Given the description of an element on the screen output the (x, y) to click on. 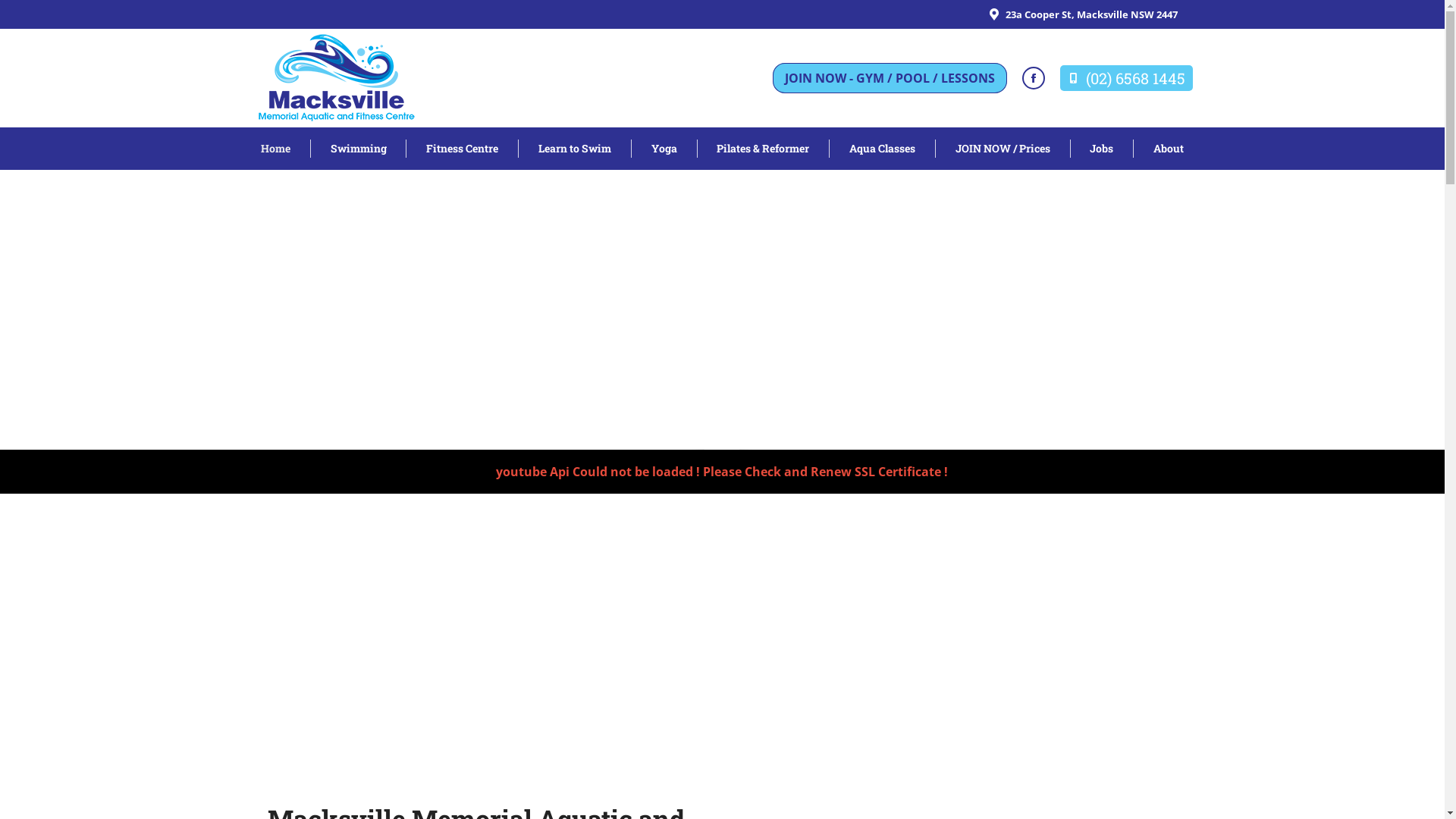
Fitness Centre Element type: text (462, 148)
JOIN NOW / Prices Element type: text (1002, 148)
23a Cooper St, Macksville NSW 2447 Element type: text (1080, 14)
Aqua Classes Element type: text (882, 148)
Yoga Element type: text (663, 148)
Learn to Swim Element type: text (575, 148)
Jobs Element type: text (1101, 148)
Pilates & Reformer Element type: text (763, 148)
(02) 6568 1445 Element type: text (1126, 78)
About Element type: text (1168, 148)
Facebook page opens in new window Element type: text (1033, 77)
JOIN NOW - GYM / POOL / LESSONS Element type: text (888, 77)
Home Element type: text (274, 148)
Swimming Element type: text (358, 148)
